Given the description of an element on the screen output the (x, y) to click on. 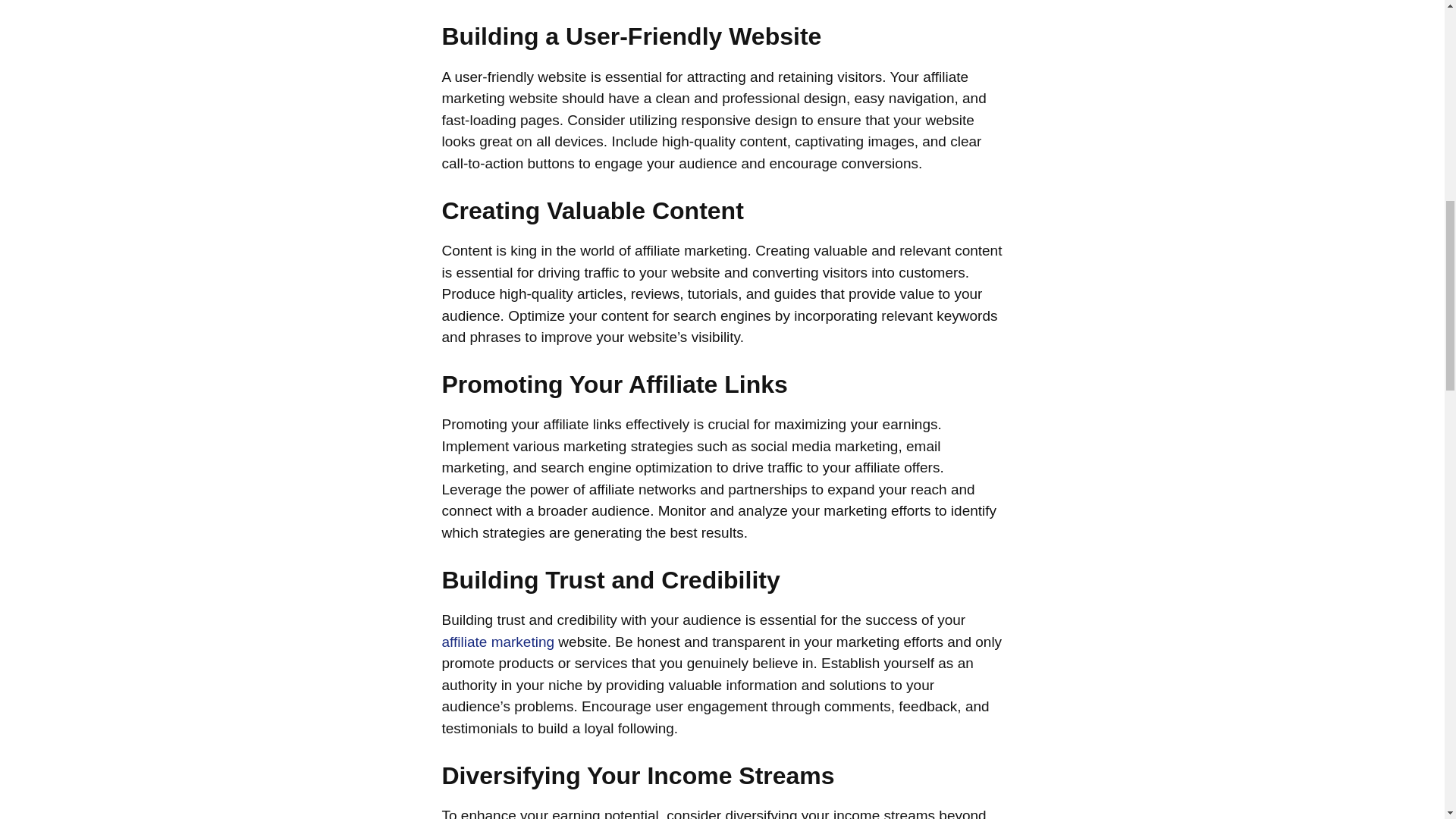
affiliate marketing (497, 641)
